Given the description of an element on the screen output the (x, y) to click on. 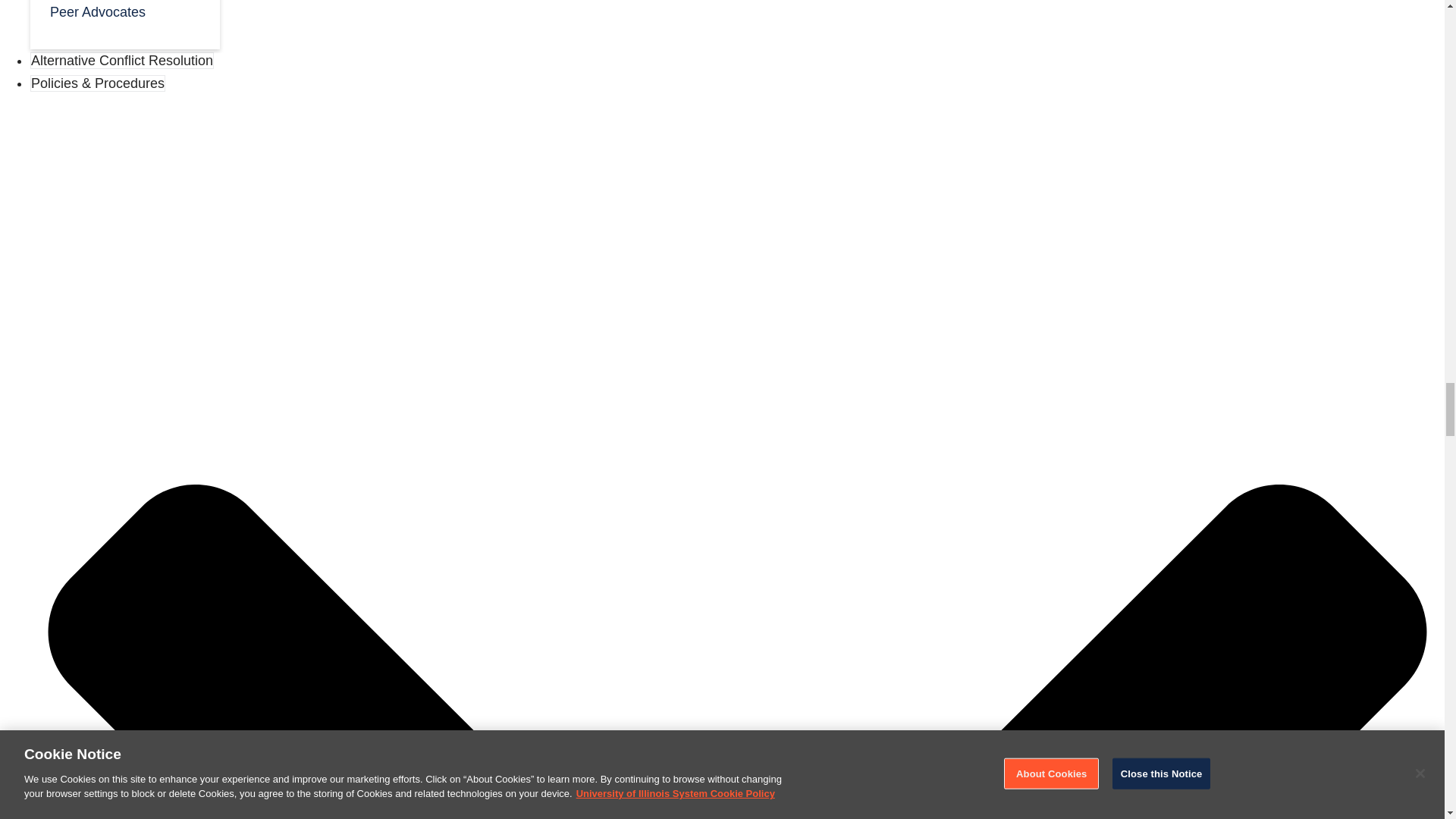
Peer Advocates (125, 15)
Alternative Conflict Resolution (122, 60)
